Given the description of an element on the screen output the (x, y) to click on. 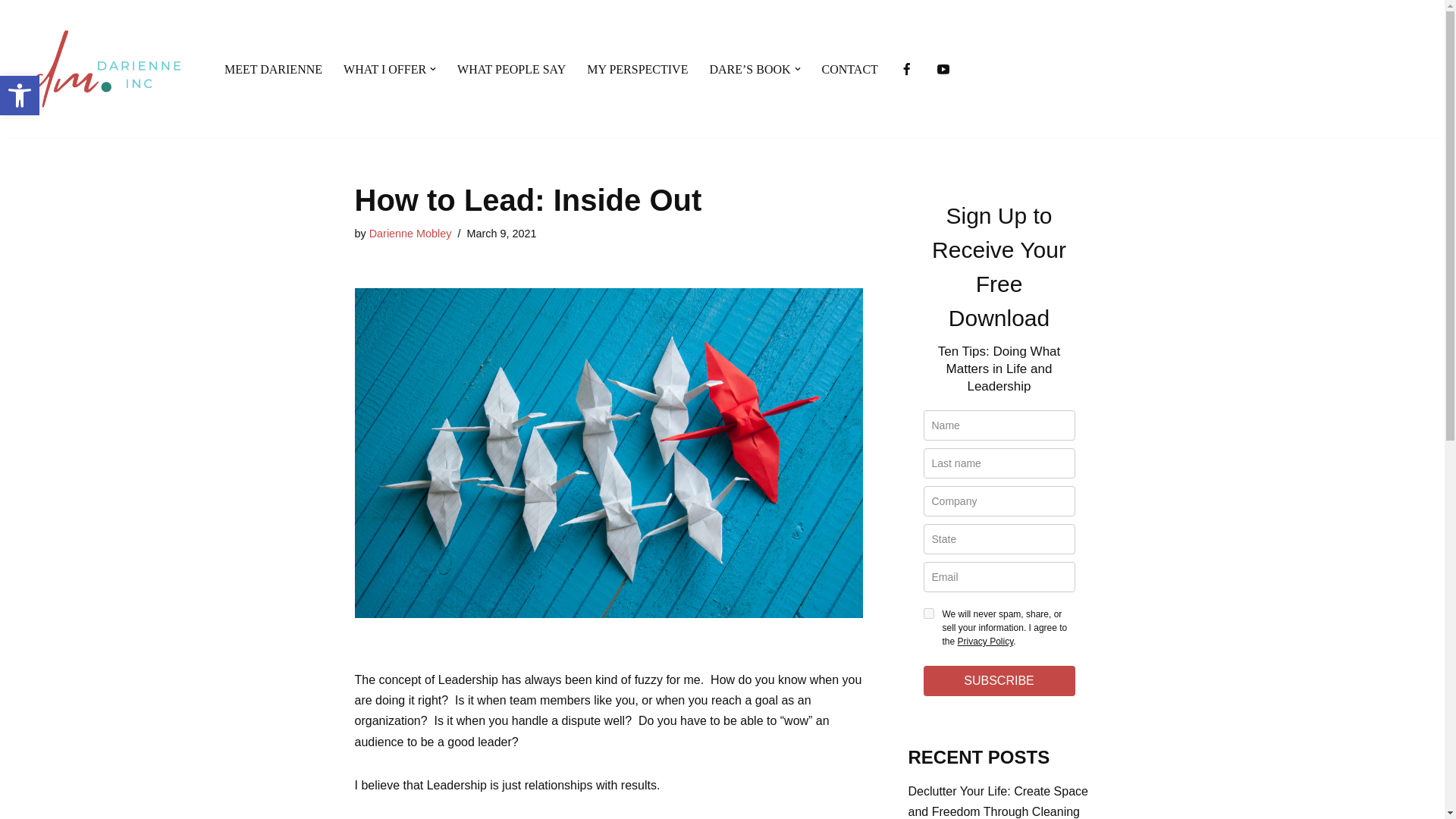
CONTACT (849, 68)
on (928, 613)
WHAT PEOPLE SAY (511, 68)
Accessibility Tools (19, 95)
MEET DARIENNE (272, 68)
Posts by Darienne Mobley (410, 233)
MY PERSPECTIVE (636, 68)
WHAT I OFFER (19, 95)
Accessibility Tools (384, 68)
